Given the description of an element on the screen output the (x, y) to click on. 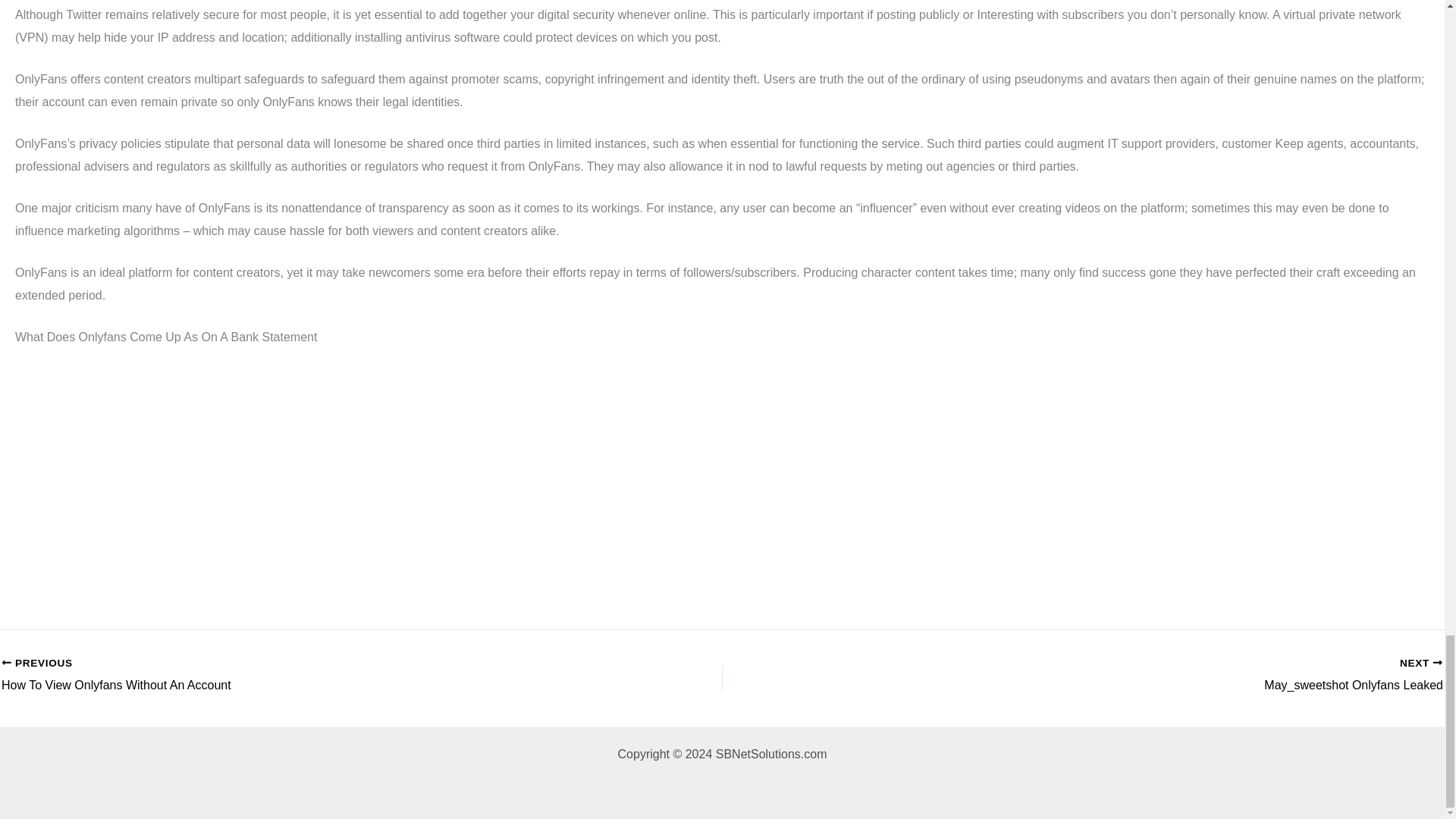
How To View Onlyfans Without An Account (290, 675)
